Given the description of an element on the screen output the (x, y) to click on. 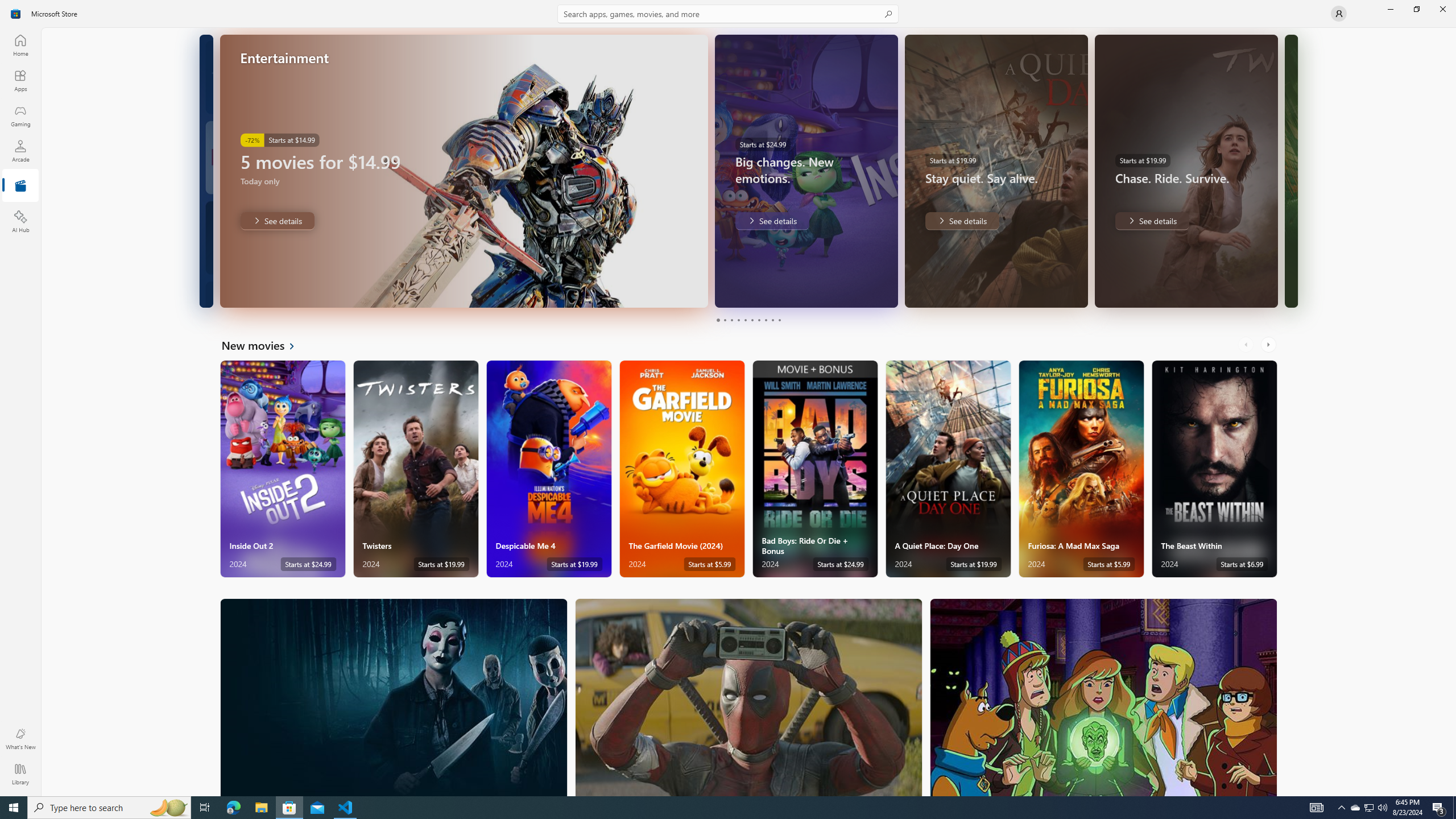
User profile (1338, 13)
Action & Adventure (749, 697)
AutomationID: PosterImage (1103, 697)
Library (20, 773)
Search (727, 13)
Home (20, 45)
AI Hub (20, 221)
Gaming (20, 115)
Page 4 (738, 319)
Page 5 (744, 319)
Horror (393, 697)
The Garfield Movie (2024). Starts at $5.99   (681, 469)
Page 6 (751, 319)
